Given the description of an element on the screen output the (x, y) to click on. 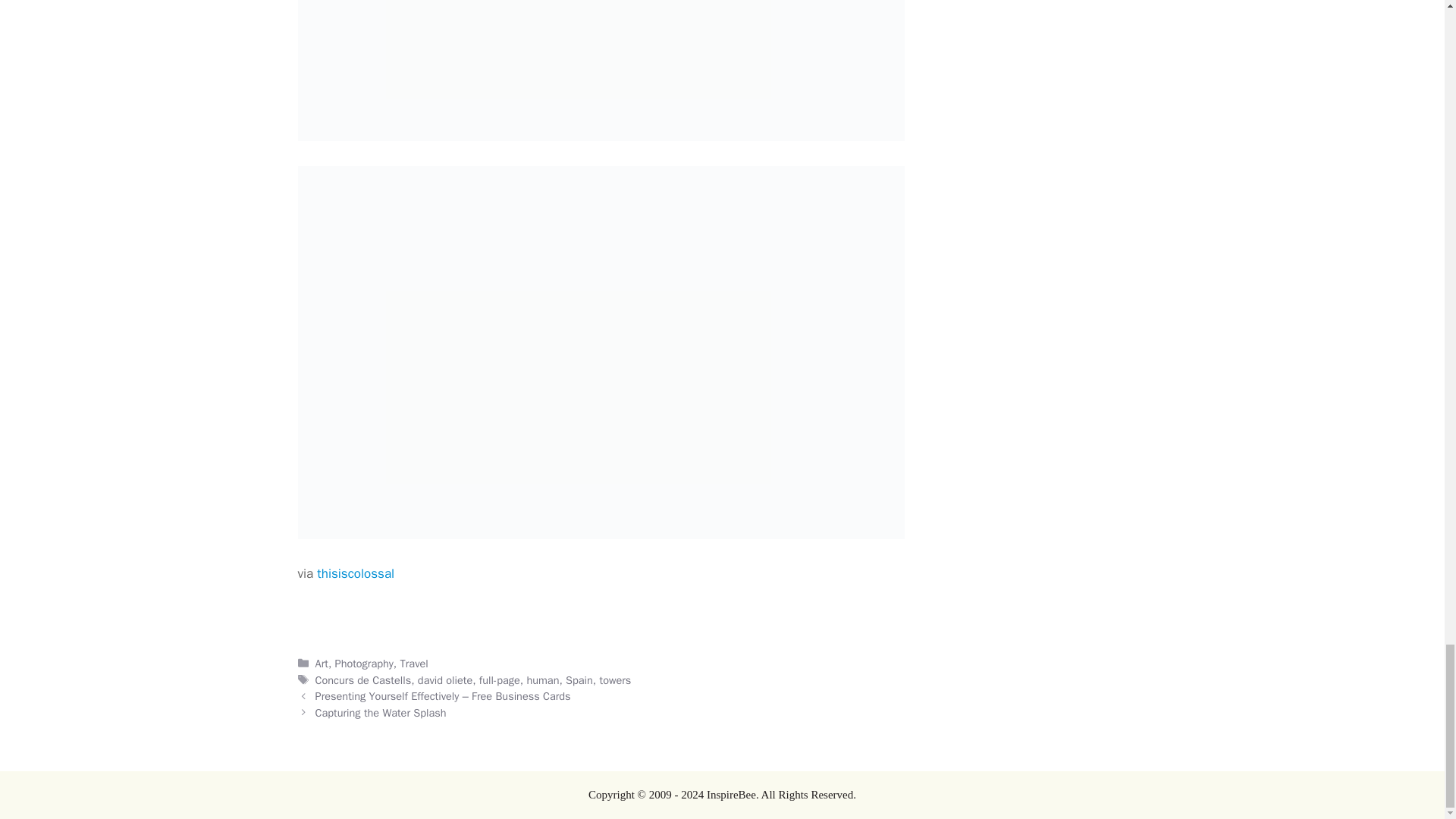
Concurs de Castells (363, 680)
human (542, 680)
Art (322, 663)
Travel (414, 663)
Spain (579, 680)
thisiscolossal (355, 573)
full-page (499, 680)
david oliete (444, 680)
towers (615, 680)
Photography (363, 663)
Capturing the Water Splash (380, 712)
